Given the description of an element on the screen output the (x, y) to click on. 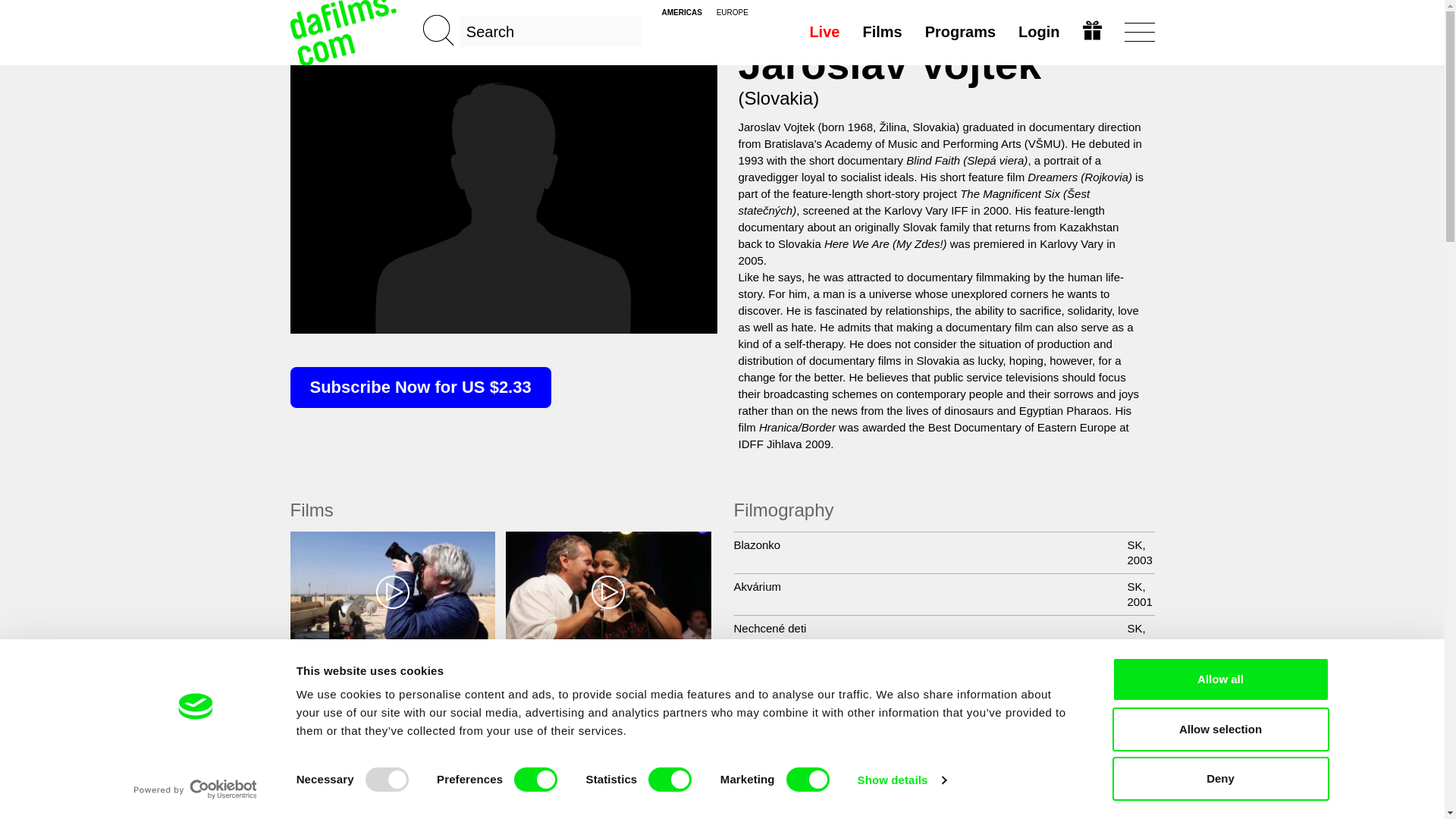
Show details (900, 780)
Home (343, 32)
